Given the description of an element on the screen output the (x, y) to click on. 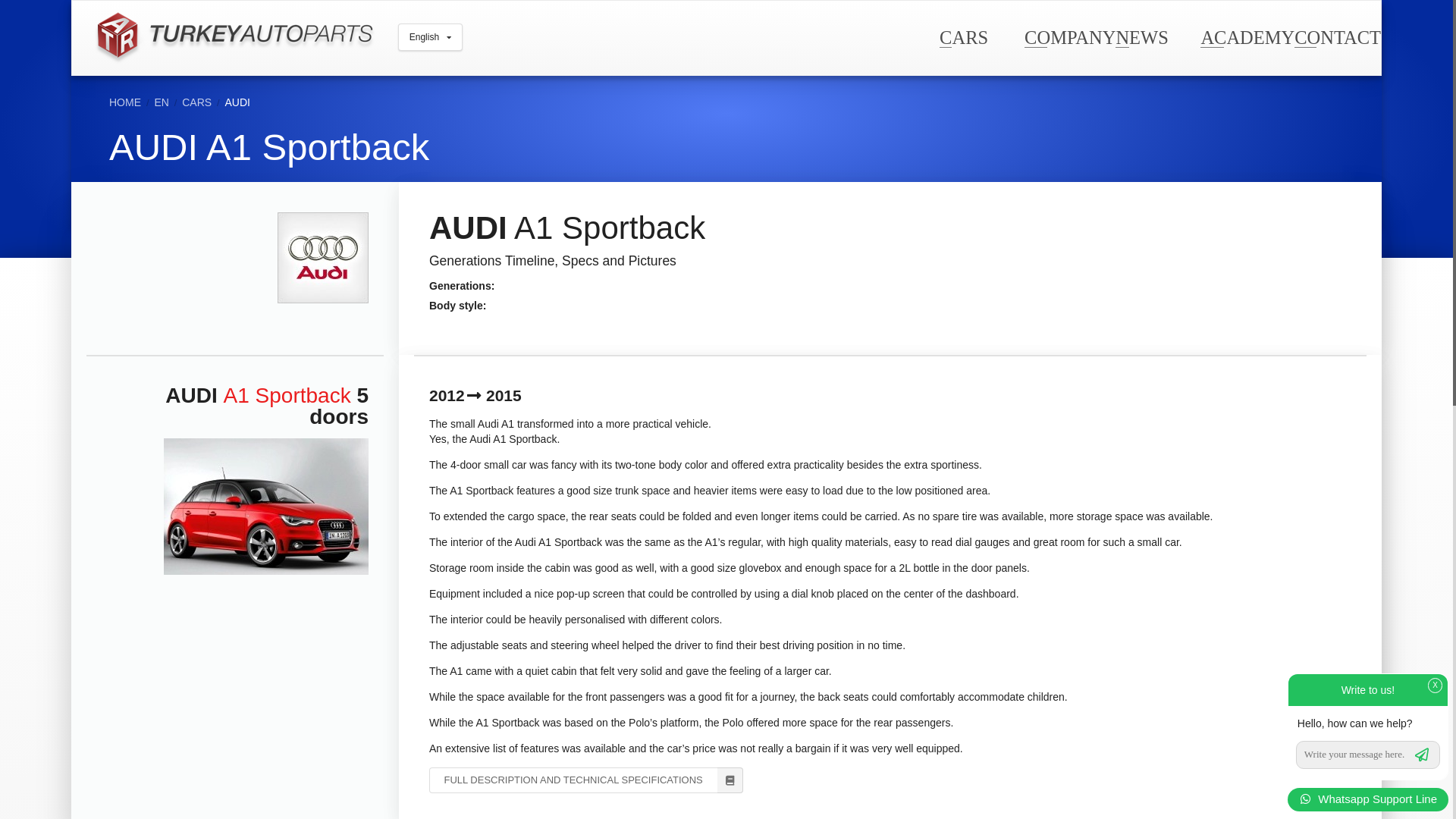
HOME (125, 102)
EN (161, 102)
FULL DESCRIPTION AND TECHNICAL SPECIFICATIONS (585, 779)
CARS (963, 37)
NEWS (1141, 37)
CONTACT (1337, 37)
ACADEMY (1246, 37)
COMPANY (1070, 37)
CARS (196, 102)
AUDI (237, 102)
